Given the description of an element on the screen output the (x, y) to click on. 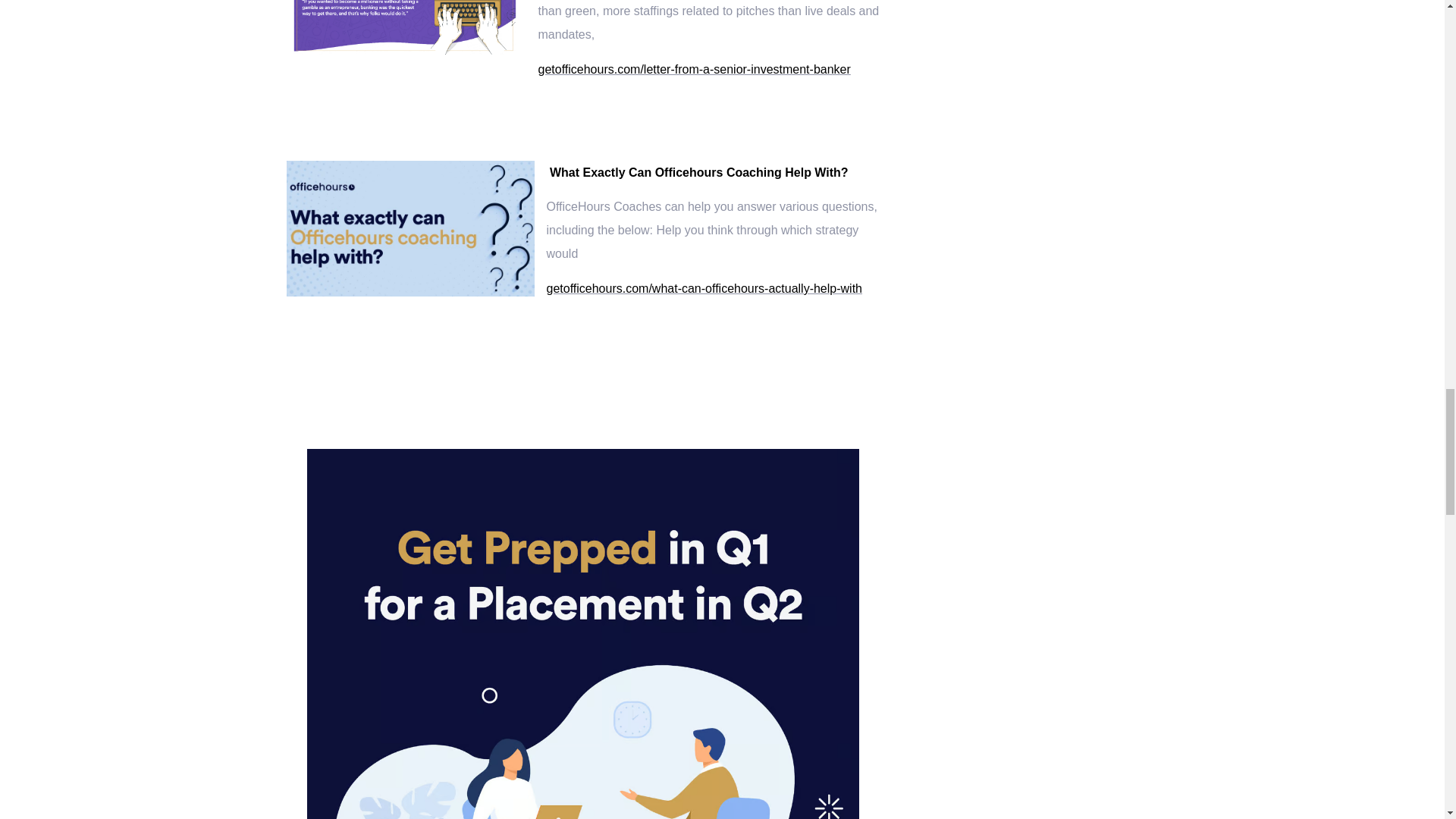
What Exactly Can Officehours Coaching Help With? (699, 172)
